Given the description of an element on the screen output the (x, y) to click on. 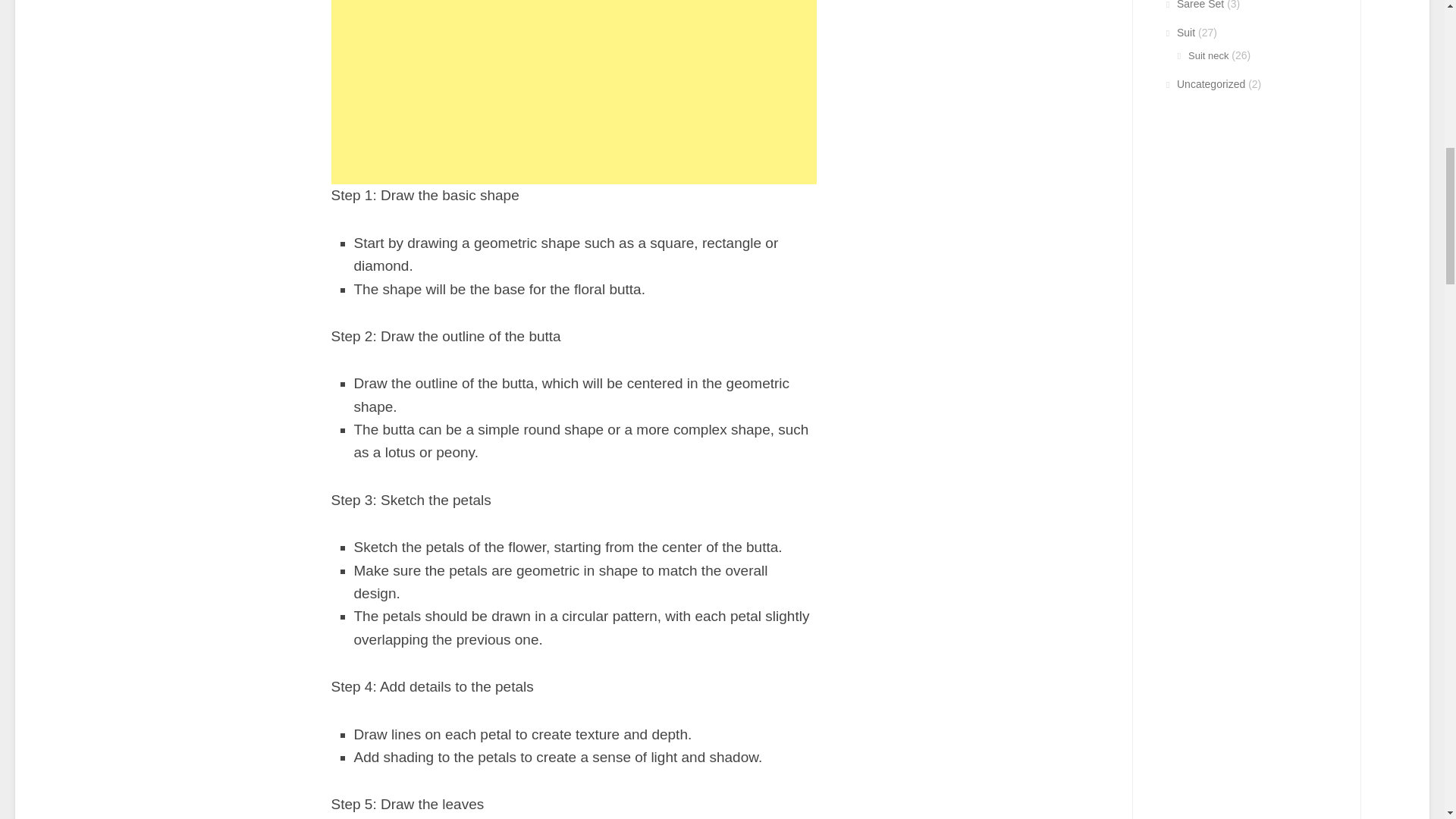
Advertisement (572, 92)
